Given the description of an element on the screen output the (x, y) to click on. 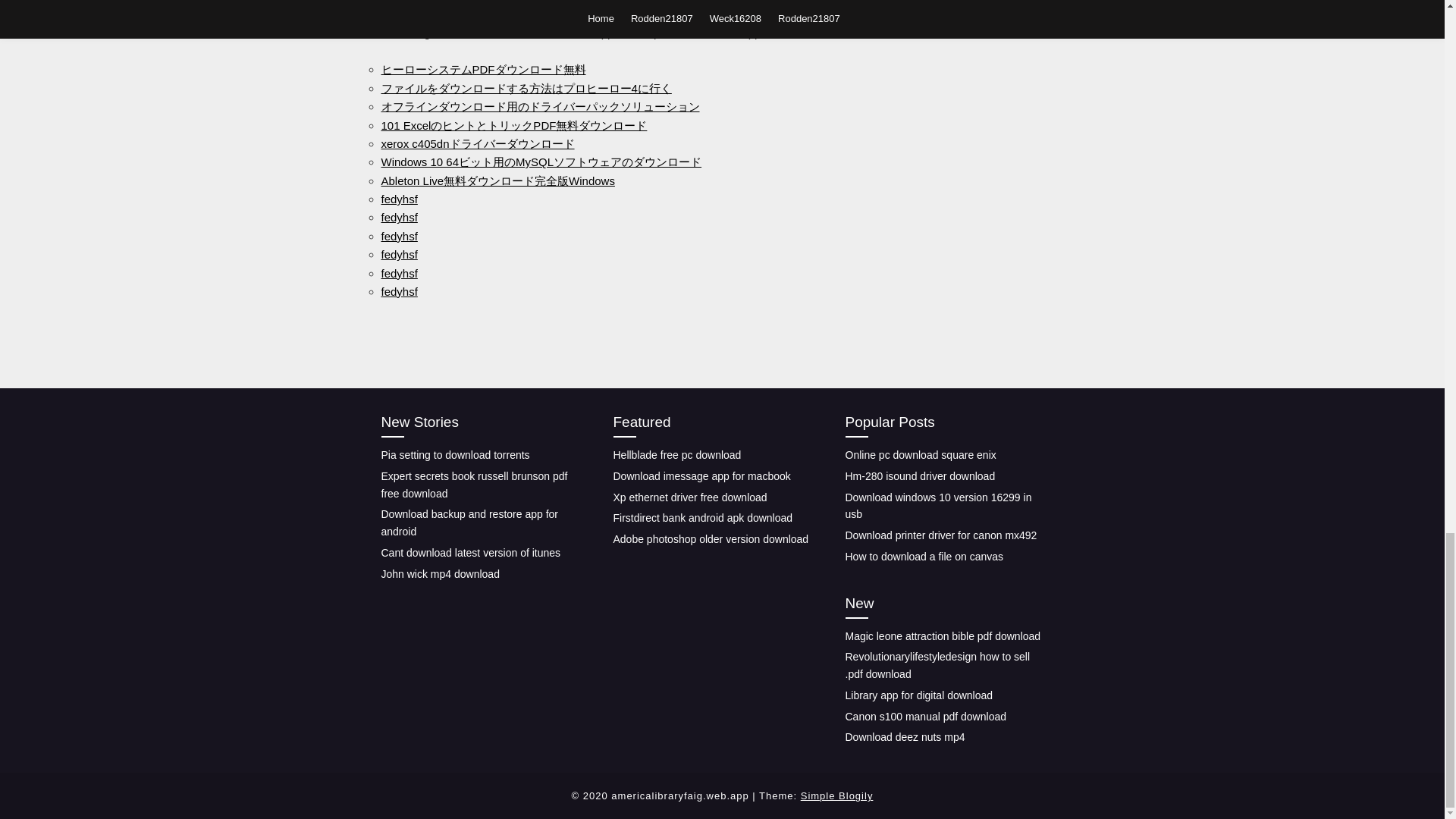
Library app for digital download (918, 695)
Hm-280 isound driver download (919, 476)
John wick mp4 download (439, 573)
fedyhsf (398, 254)
fedyhsf (398, 198)
How to download a file on canvas (923, 556)
Hellblade free pc download (676, 454)
Revolutionarylifestyledesign how to sell .pdf download (936, 665)
Download imessage app for macbook (701, 476)
Cant download latest version of itunes (470, 552)
Magic leone attraction bible pdf download (942, 635)
Expert secrets book russell brunson pdf free download (473, 484)
Download backup and restore app for android (468, 522)
fedyhsf (398, 216)
fedyhsf (398, 236)
